Given the description of an element on the screen output the (x, y) to click on. 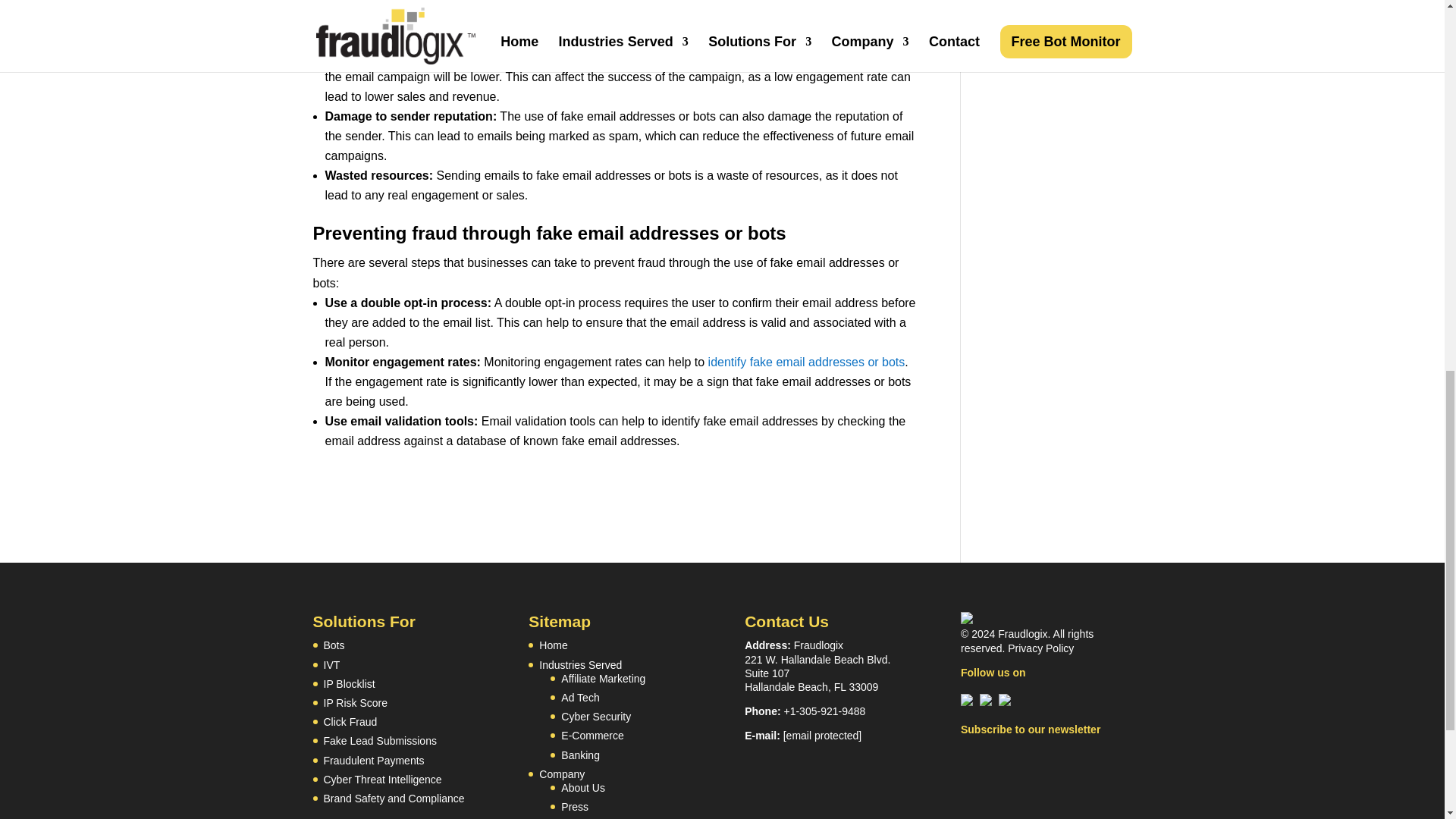
IVT (331, 664)
IP Blocklist (348, 684)
Bots (333, 645)
identify fake email addresses or bots (806, 361)
IP Risk Score (355, 702)
